Given the description of an element on the screen output the (x, y) to click on. 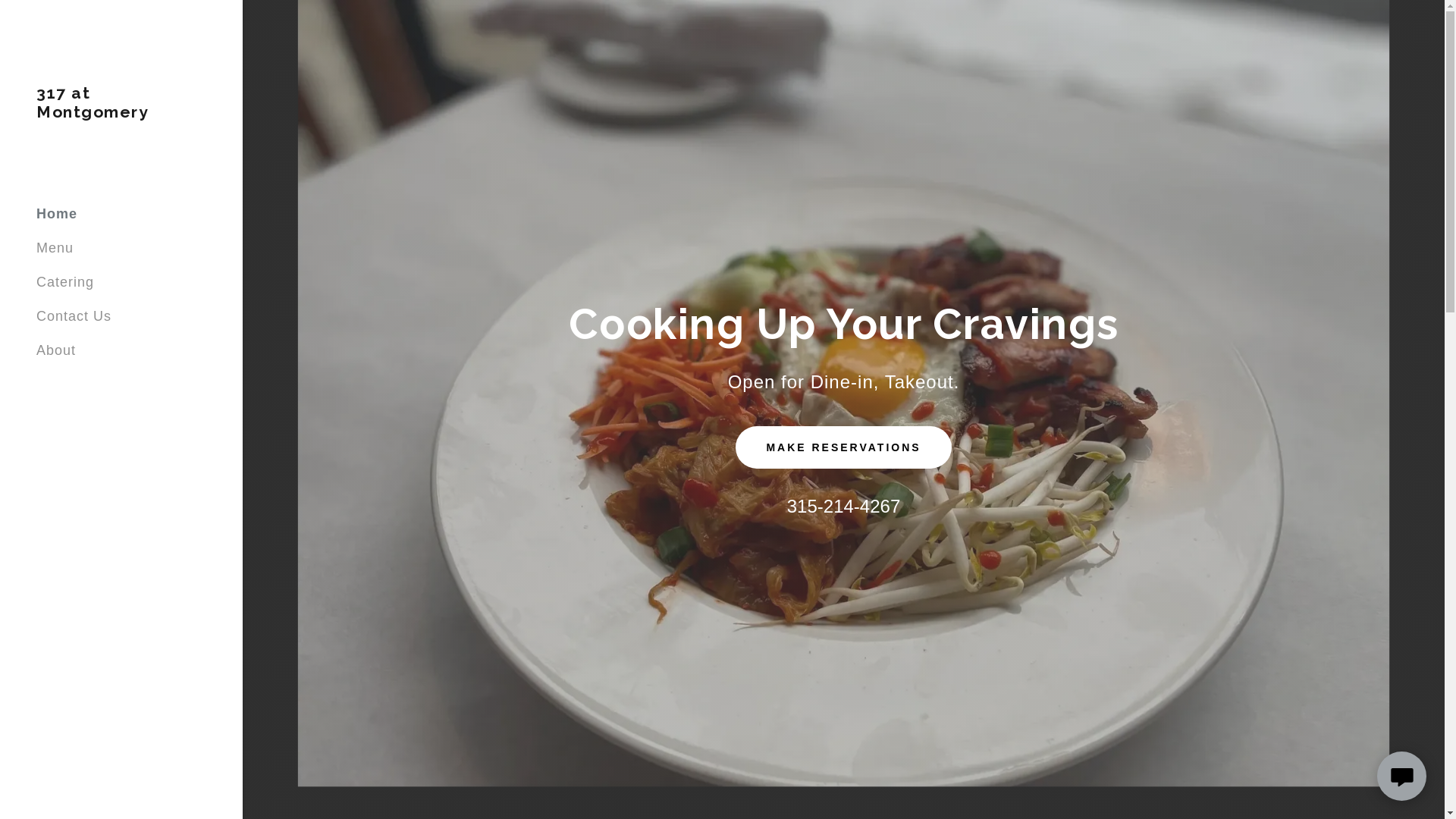
Catering Element type: text (65, 281)
Home Element type: text (56, 213)
317 at Montgomery Element type: text (121, 112)
About Element type: text (55, 349)
Contact Us Element type: text (73, 315)
MAKE RESERVATIONS Element type: text (842, 447)
Menu Element type: text (54, 247)
315-214-4267 Element type: text (843, 505)
